Given the description of an element on the screen output the (x, y) to click on. 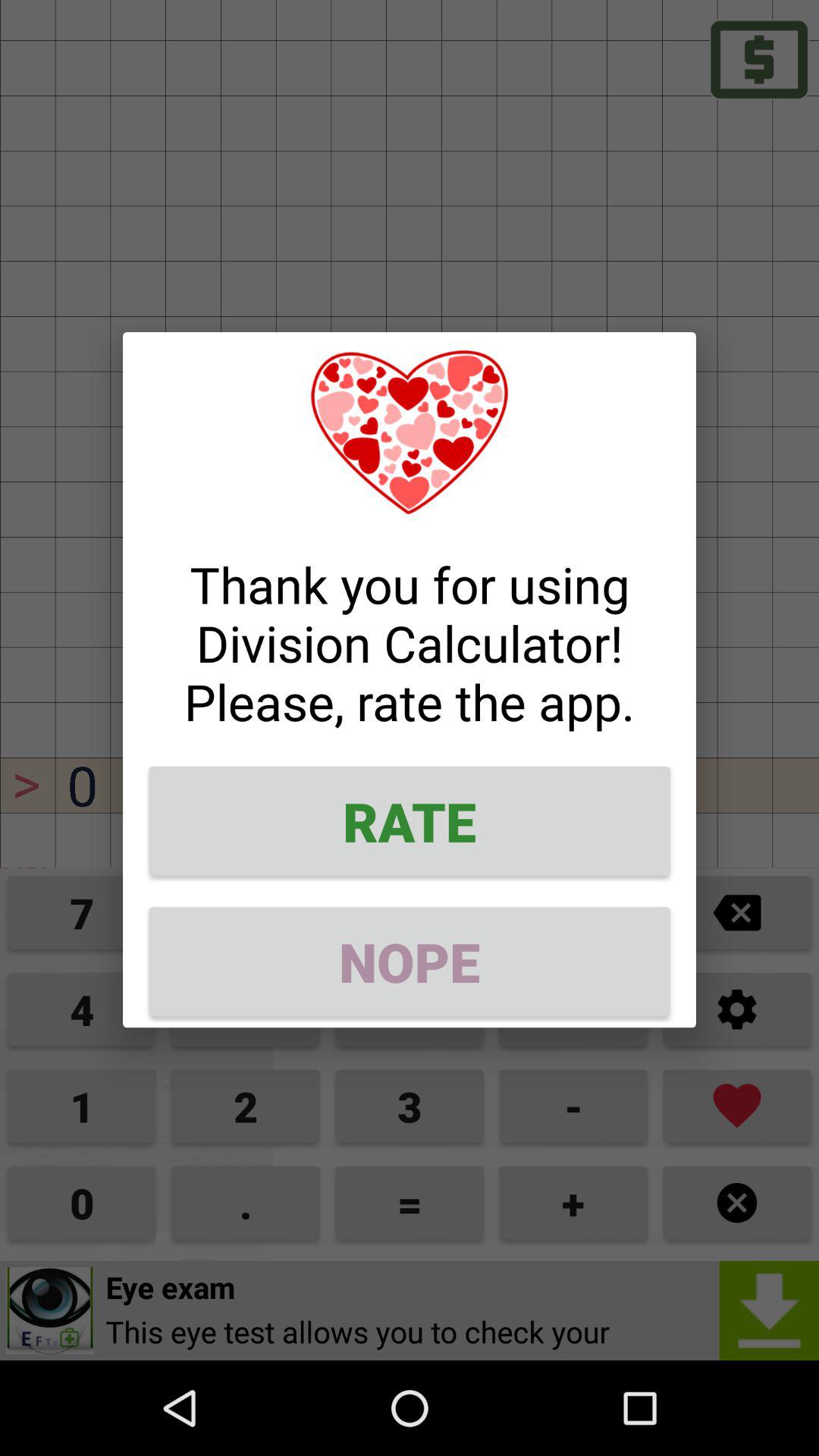
turn off nope (409, 961)
